Given the description of an element on the screen output the (x, y) to click on. 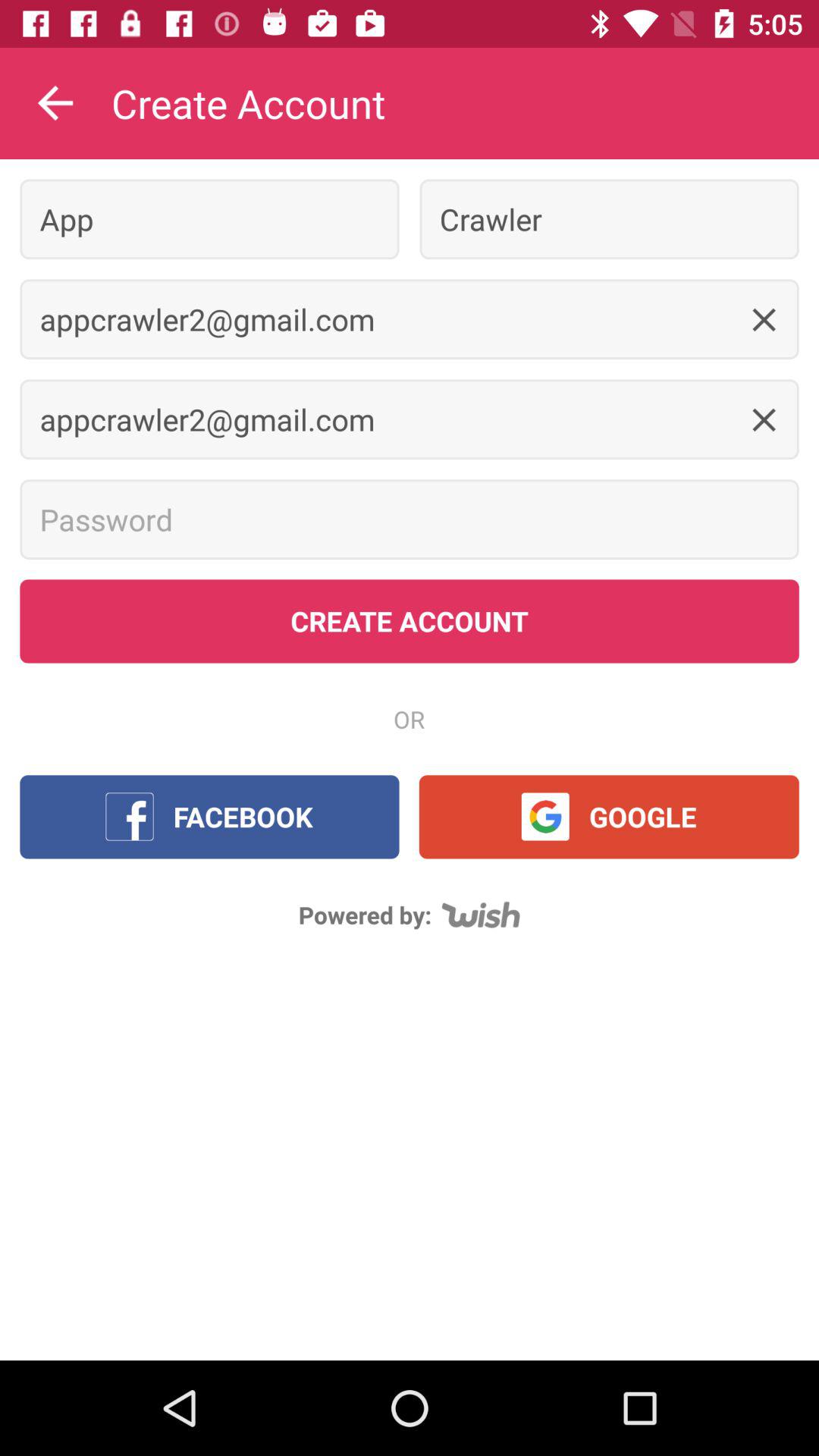
click item to the right of the app item (609, 219)
